Given the description of an element on the screen output the (x, y) to click on. 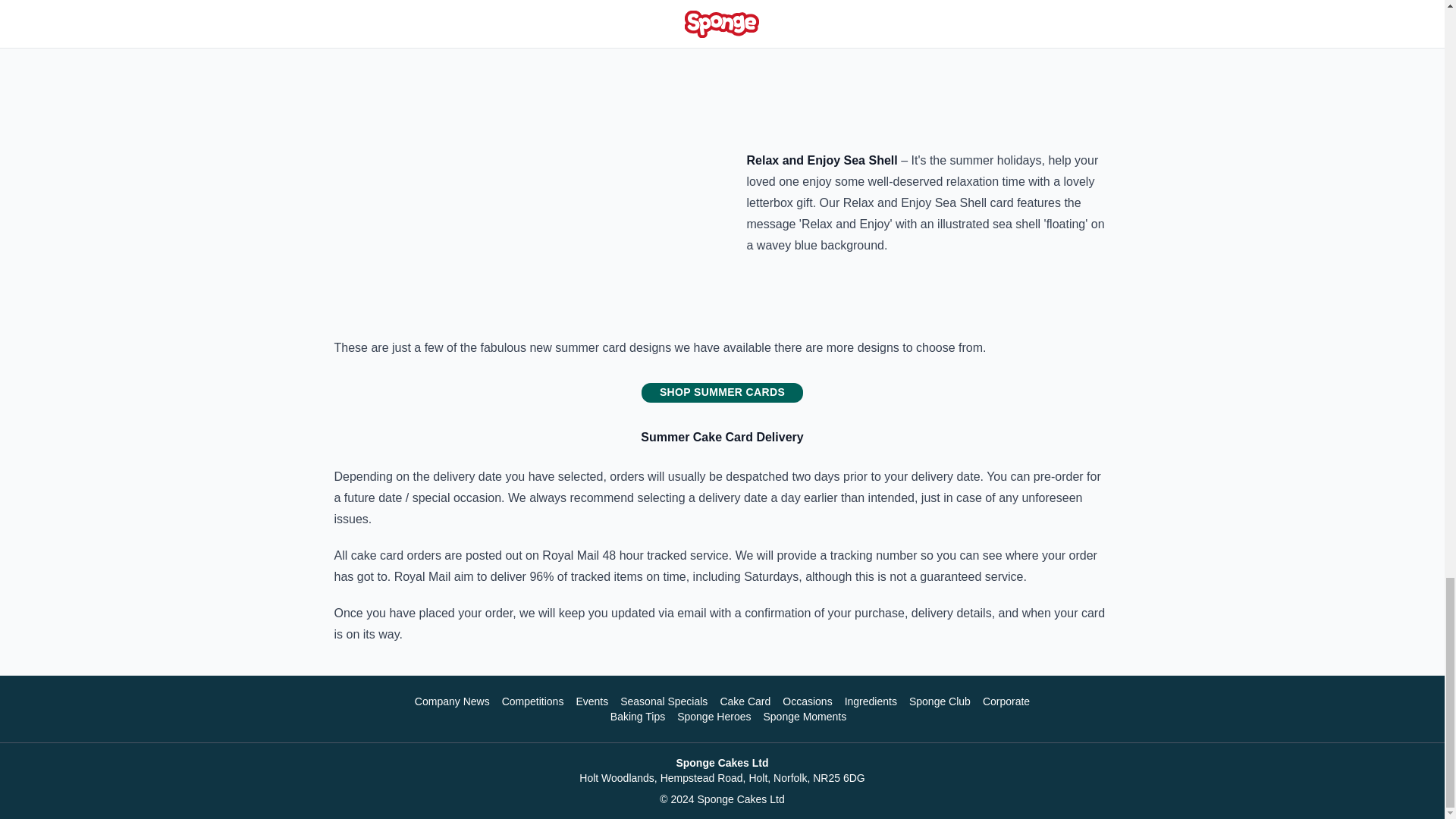
Occasions (807, 701)
Corporate (1005, 701)
Cake Card (744, 701)
Sponge Moments (803, 716)
Company News (451, 701)
Events (591, 701)
Baking Tips (637, 716)
Sponge Club (939, 701)
Ingredients (870, 701)
Competitions (533, 701)
SHOP SUMMER CARDS (722, 392)
Sponge Heroes (714, 716)
SHOP SUMMER CARDS (722, 391)
Seasonal Specials (663, 701)
